Given the description of an element on the screen output the (x, y) to click on. 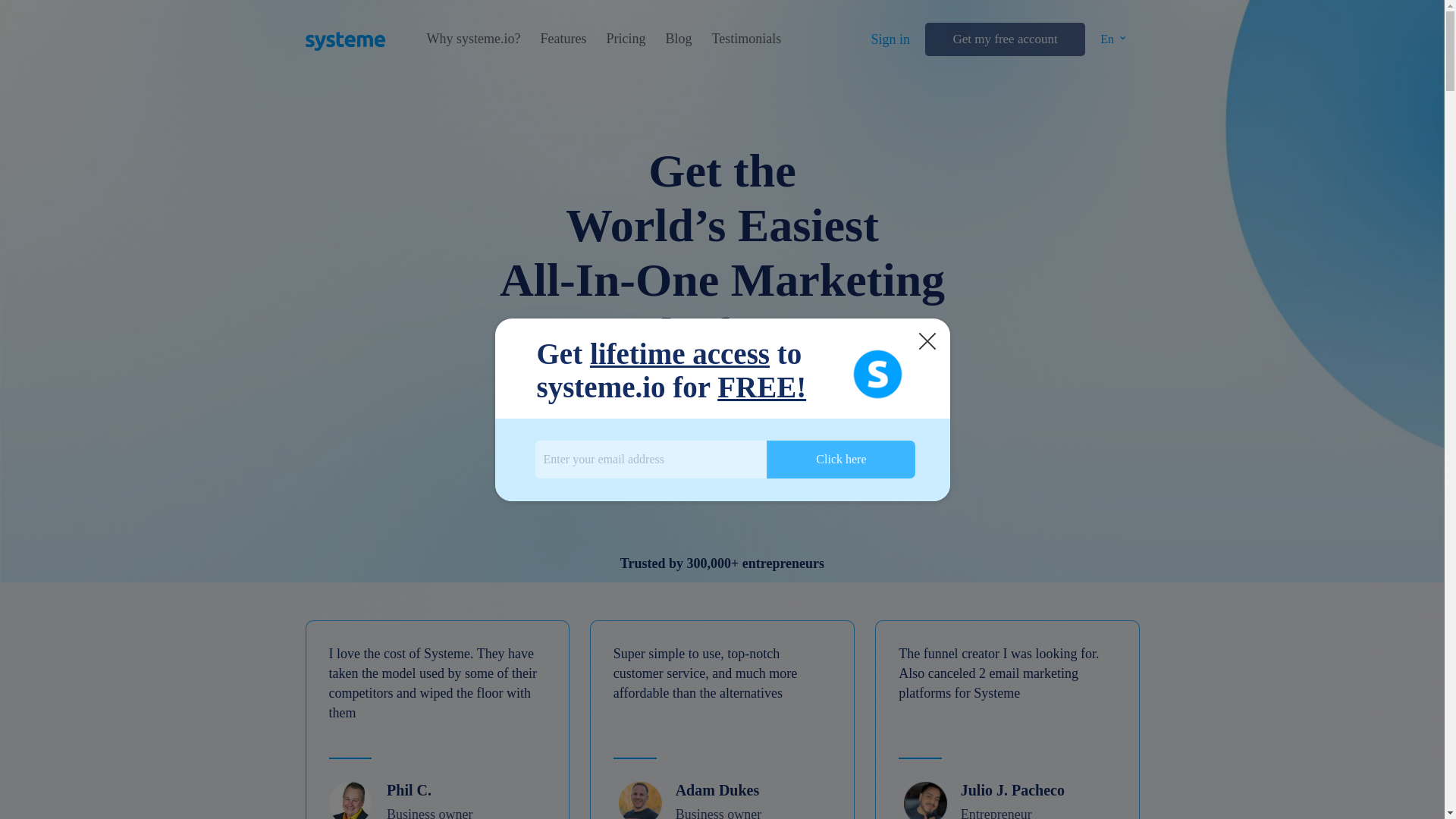
Features (563, 38)
Testimonials (745, 38)
Blog (678, 38)
Get my free account (1004, 39)
Pricing (625, 38)
Sign in (890, 39)
Why systeme.io? (472, 38)
